Given the description of an element on the screen output the (x, y) to click on. 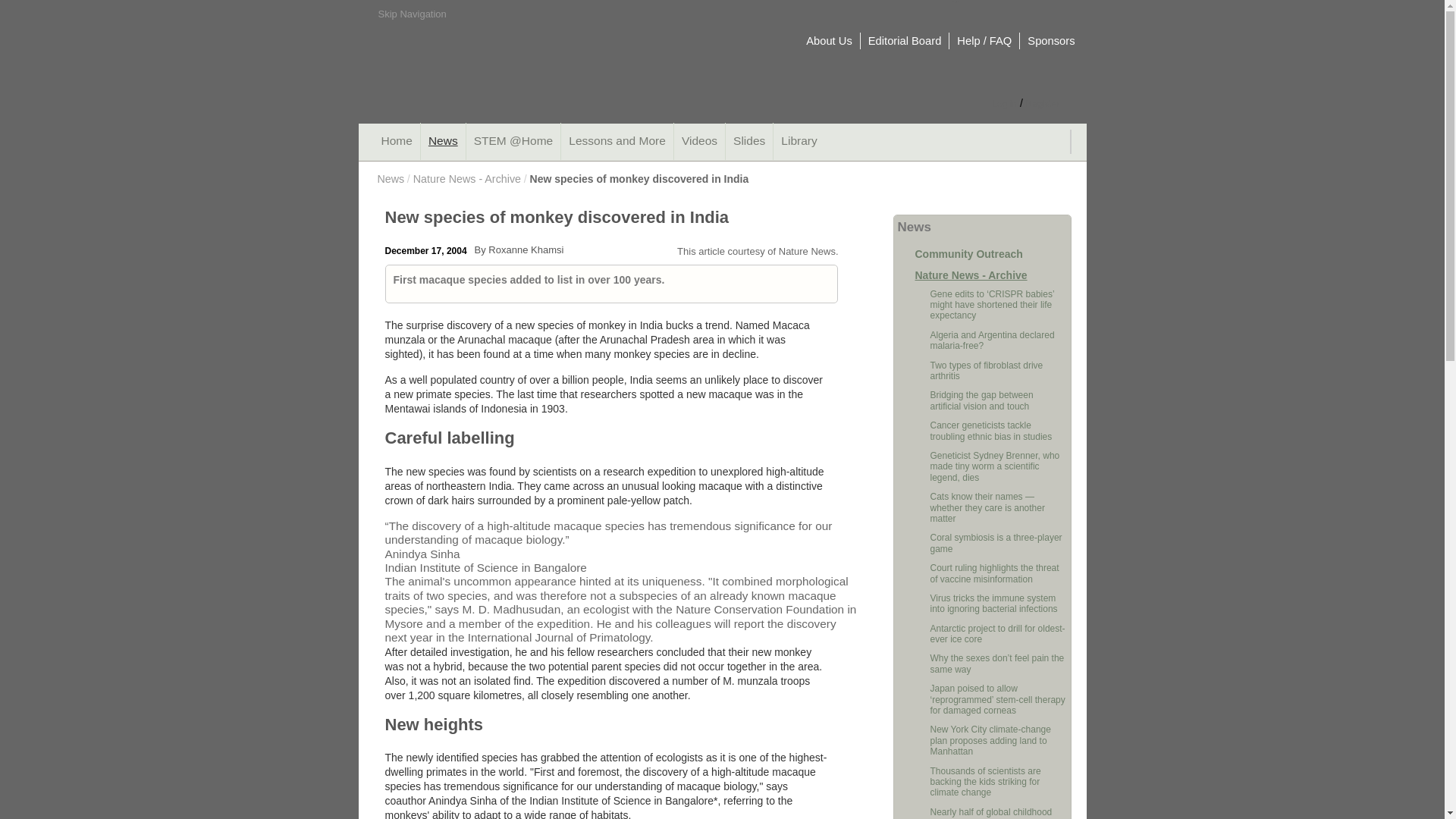
Skip Navigation, go directly to page content. (410, 13)
Log in (1003, 103)
Lessons and More (616, 140)
About Us (828, 40)
Editorial Board (904, 40)
View SuperSTAAR (1001, 15)
Sponsors (1050, 40)
Home (395, 140)
Go to SuperSTAAR (1001, 15)
News (442, 140)
